Given the description of an element on the screen output the (x, y) to click on. 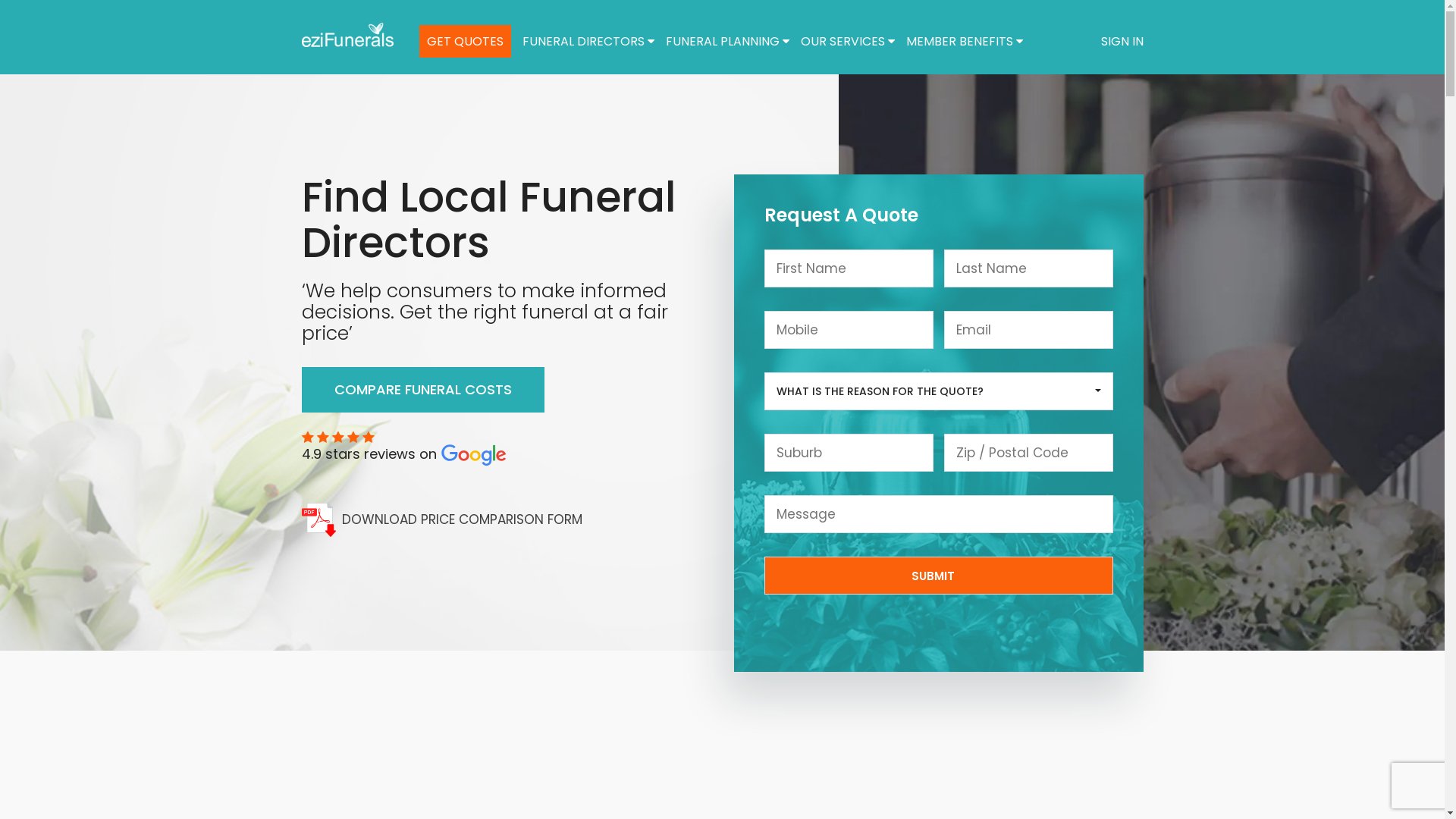
MEMBER BENEFITS Element type: text (963, 41)
DOWNLOAD PRICE COMPARISON FORM Element type: text (506, 519)
WHAT IS THE REASON FOR THE QUOTE? Element type: text (938, 391)
FUNERAL PLANNING Element type: text (727, 41)
SIGN IN Element type: text (1122, 41)
GET QUOTES Element type: text (464, 41)
OUR SERVICES Element type: text (847, 41)
COMPARE FUNERAL COSTS Element type: text (422, 389)
Submit Element type: text (938, 575)
FUNERAL DIRECTORS Element type: text (587, 41)
